Given the description of an element on the screen output the (x, y) to click on. 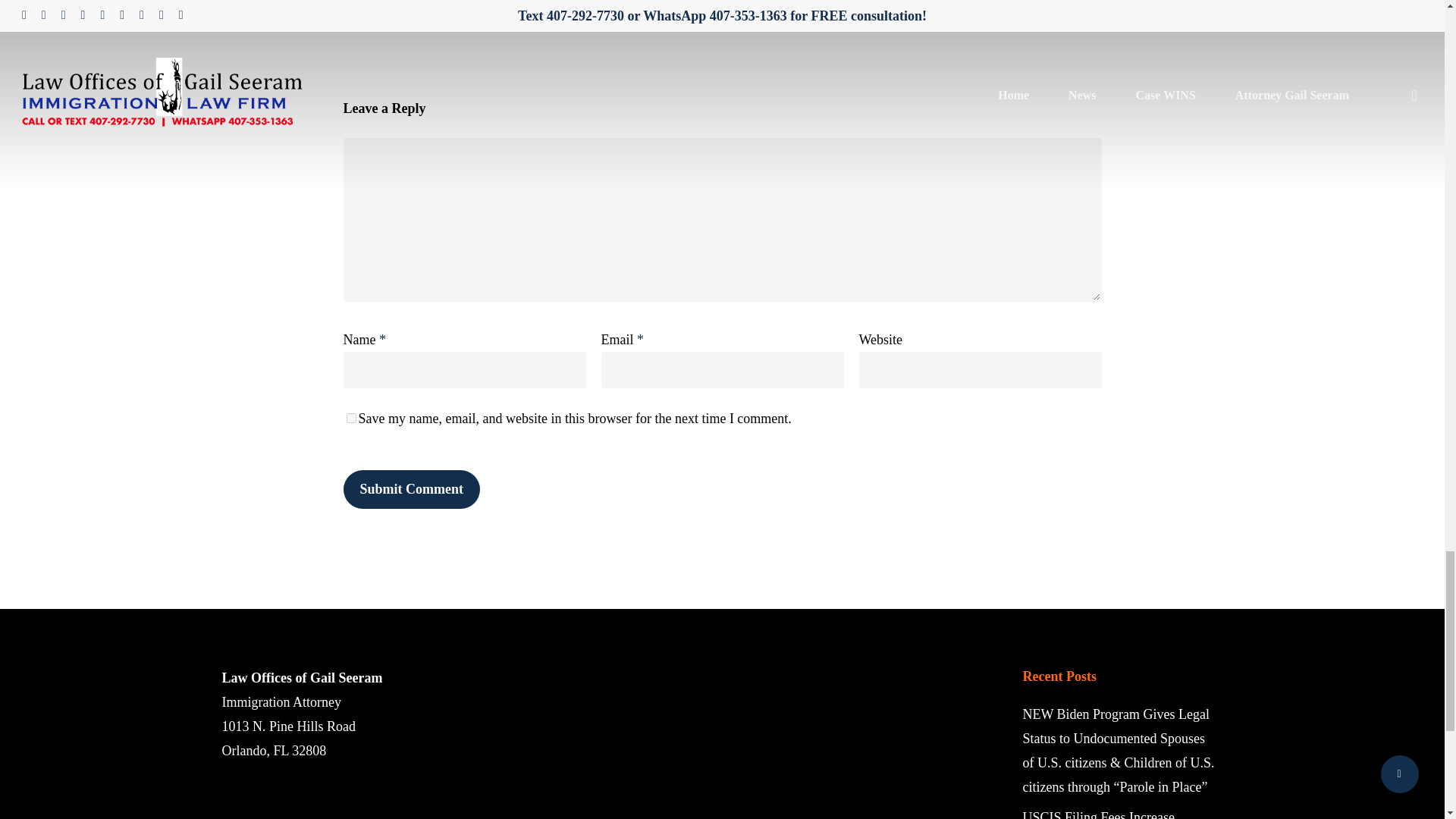
Submit Comment (411, 489)
yes (350, 418)
